Given the description of an element on the screen output the (x, y) to click on. 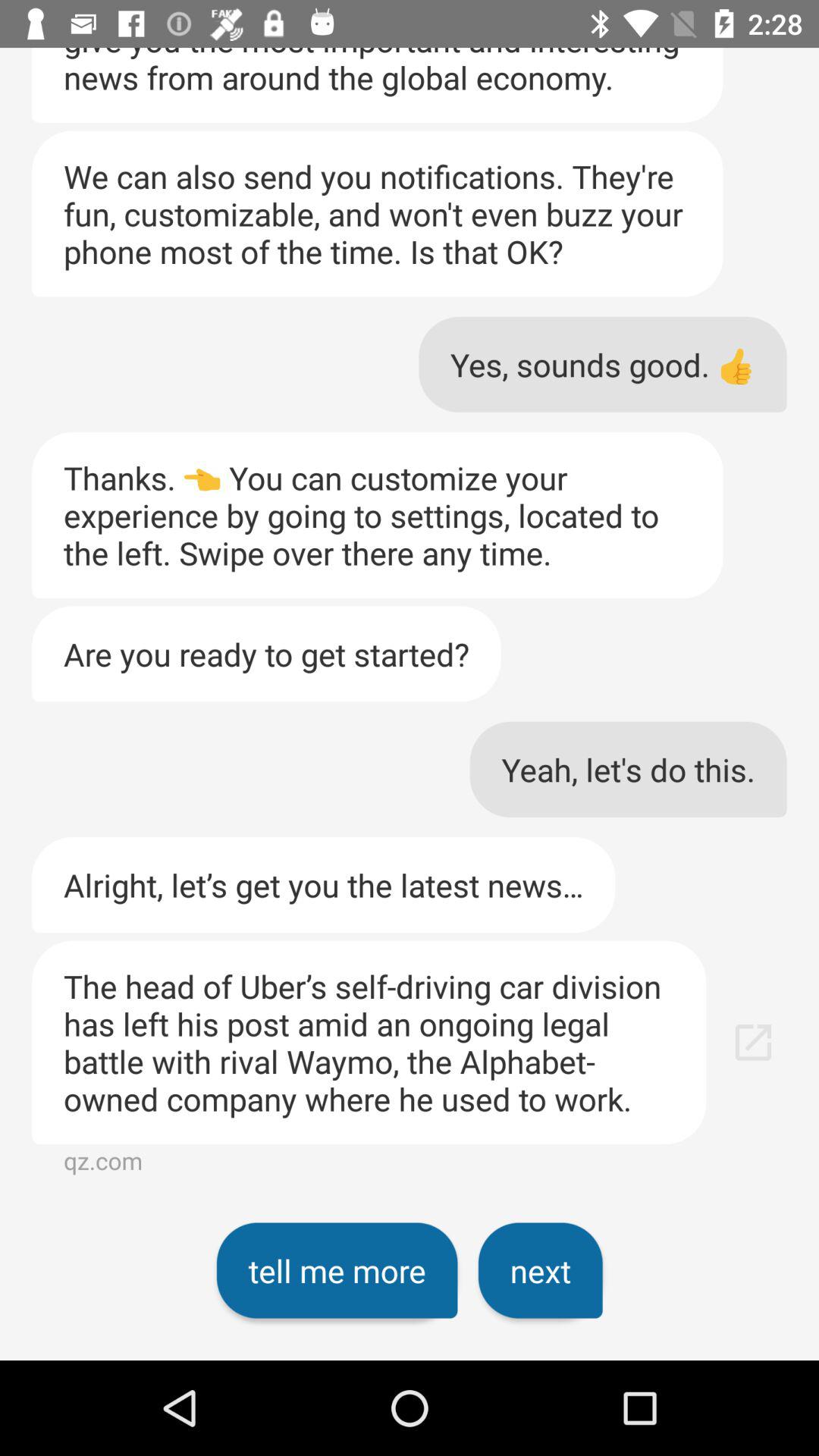
select the item to the right of tell me more icon (540, 1270)
